Given the description of an element on the screen output the (x, y) to click on. 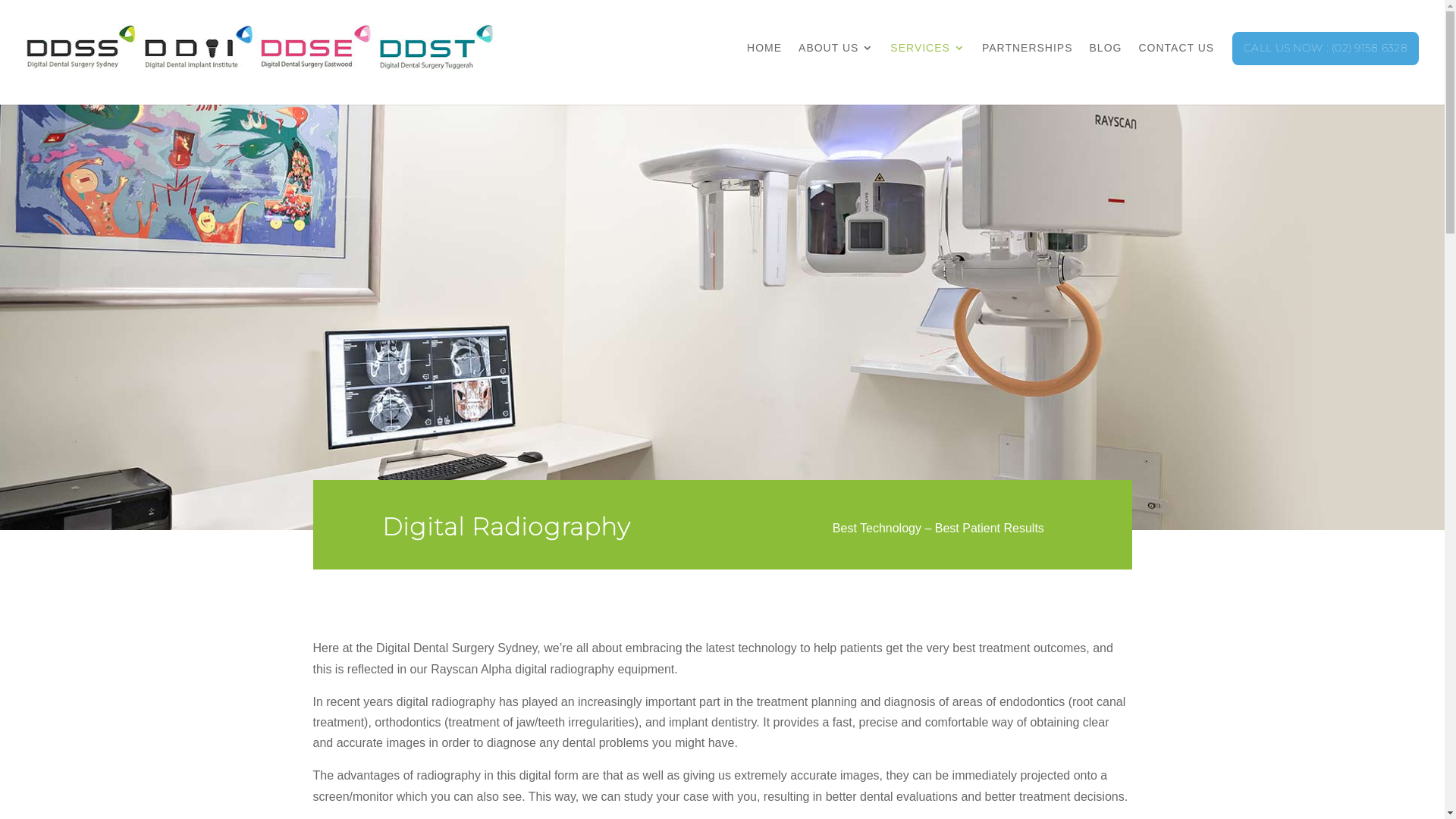
CONTACT US Element type: text (1176, 62)
BLOG Element type: text (1105, 62)
CALL US NOW : (02) 9158 6328 Element type: text (1325, 63)
SERVICES Element type: text (927, 62)
HOME Element type: text (763, 62)
PARTNERSHIPS Element type: text (1027, 62)
ABOUT US Element type: text (835, 62)
